Given the description of an element on the screen output the (x, y) to click on. 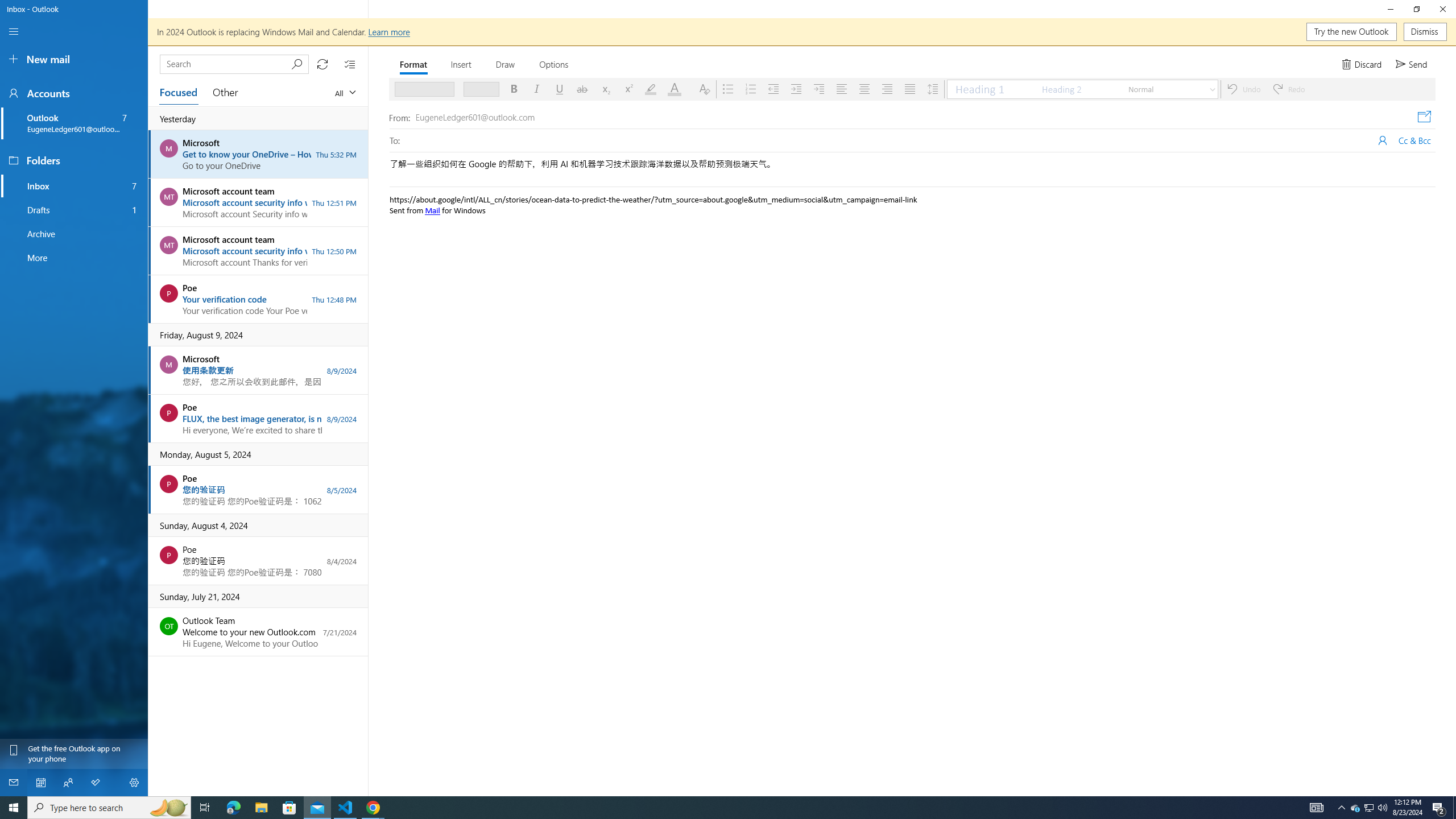
Increase Indent (796, 88)
Superscript (627, 88)
Italic (536, 88)
Archive folder, favorite (74, 233)
From: (469, 117)
